Given the description of an element on the screen output the (x, y) to click on. 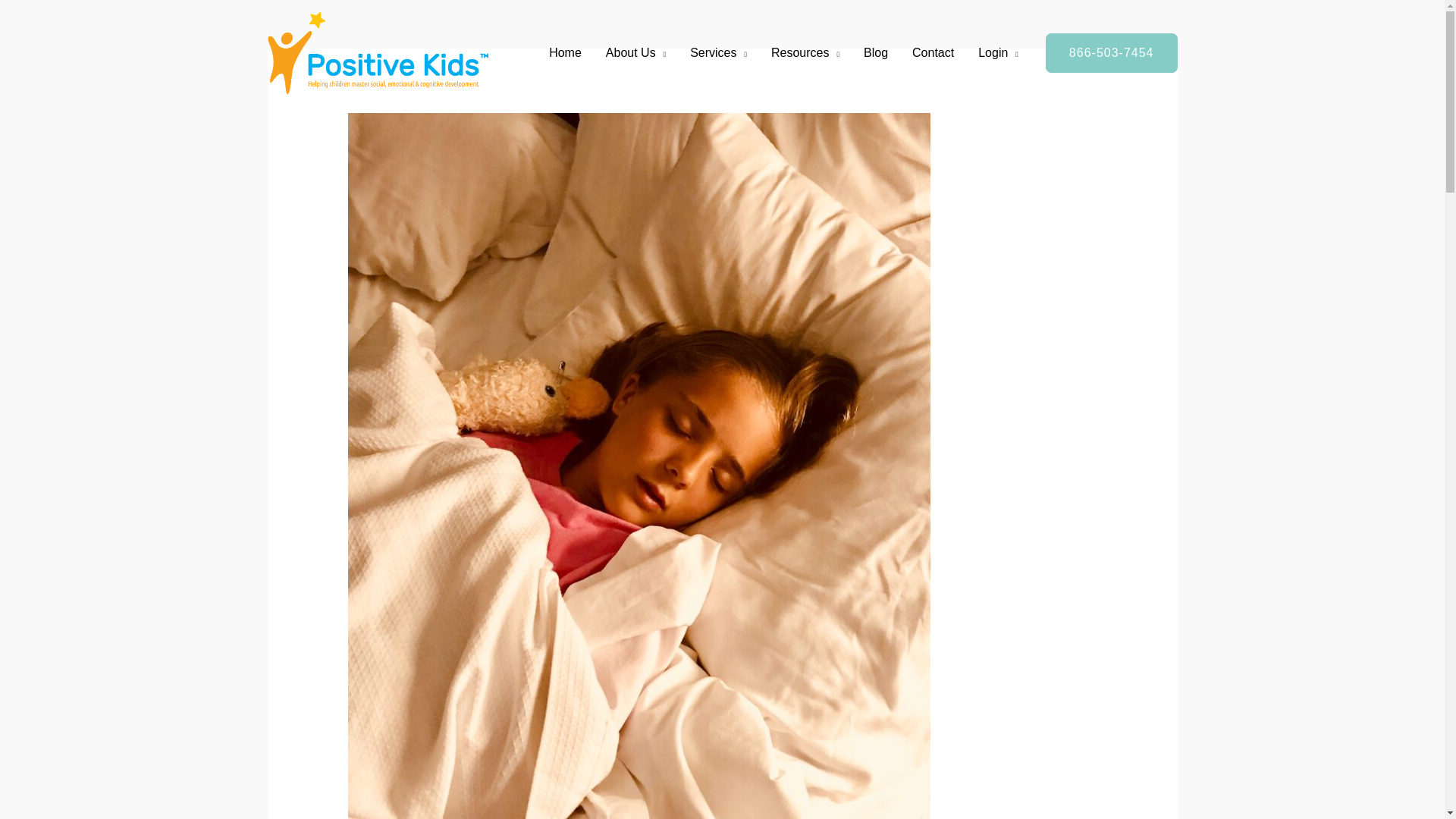
Home Element type: text (564, 52)
Resources Element type: text (805, 52)
866-503-7454 Element type: text (1111, 52)
About Us Element type: text (635, 52)
Login Element type: text (998, 52)
Contact Element type: text (933, 52)
Services Element type: text (718, 52)
Blog Element type: text (875, 52)
